Given the description of an element on the screen output the (x, y) to click on. 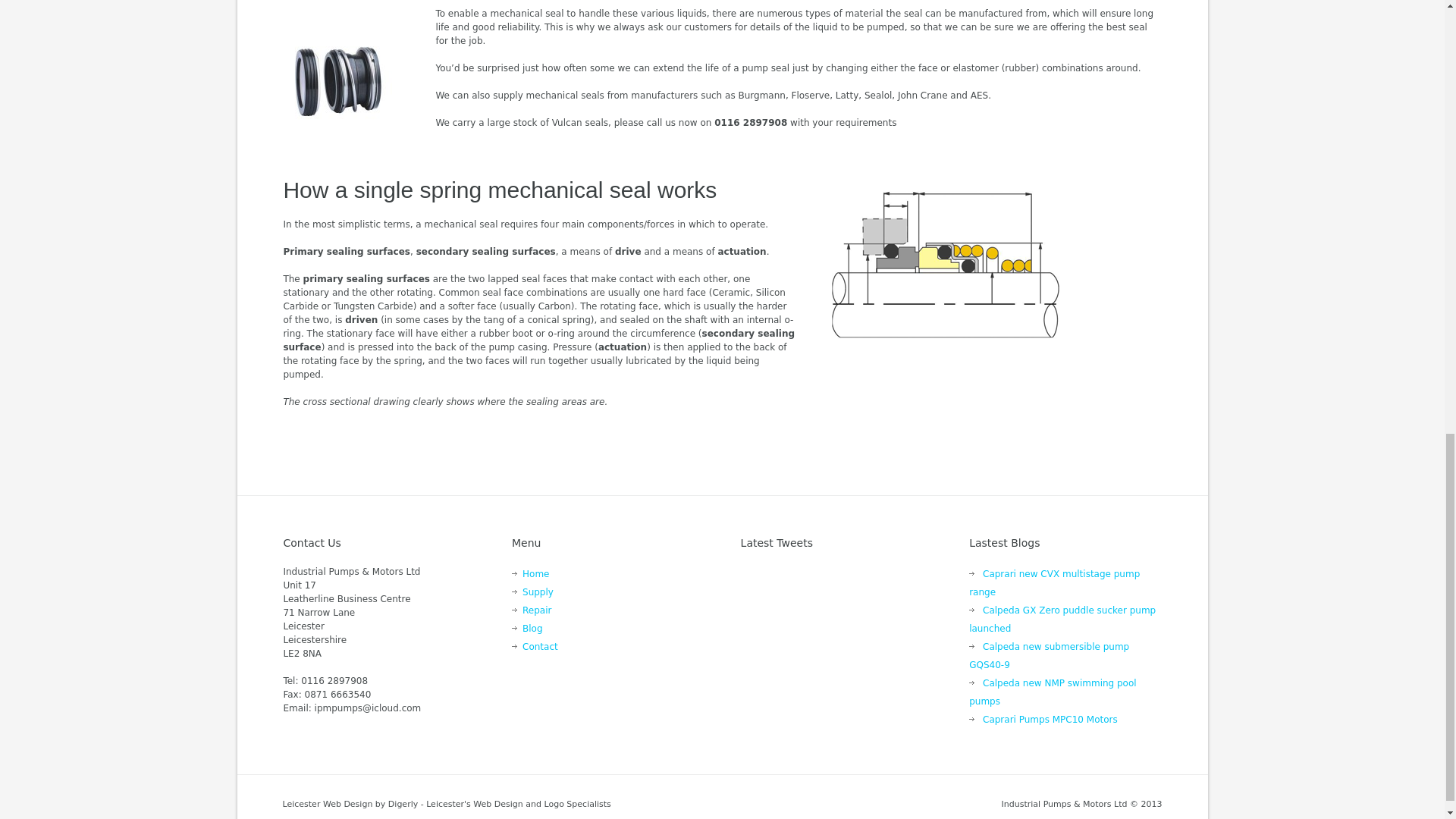
Calpeda new submersible pump GQS40-9 (1049, 655)
Calpeda new NMP swimming pool pumps (1052, 692)
Caprari new CVX multistage pump range (1054, 582)
Calpeda GX Zero puddle sucker pump launched (1062, 619)
Caprari Pumps MPC10 Motors (1050, 719)
